Given the description of an element on the screen output the (x, y) to click on. 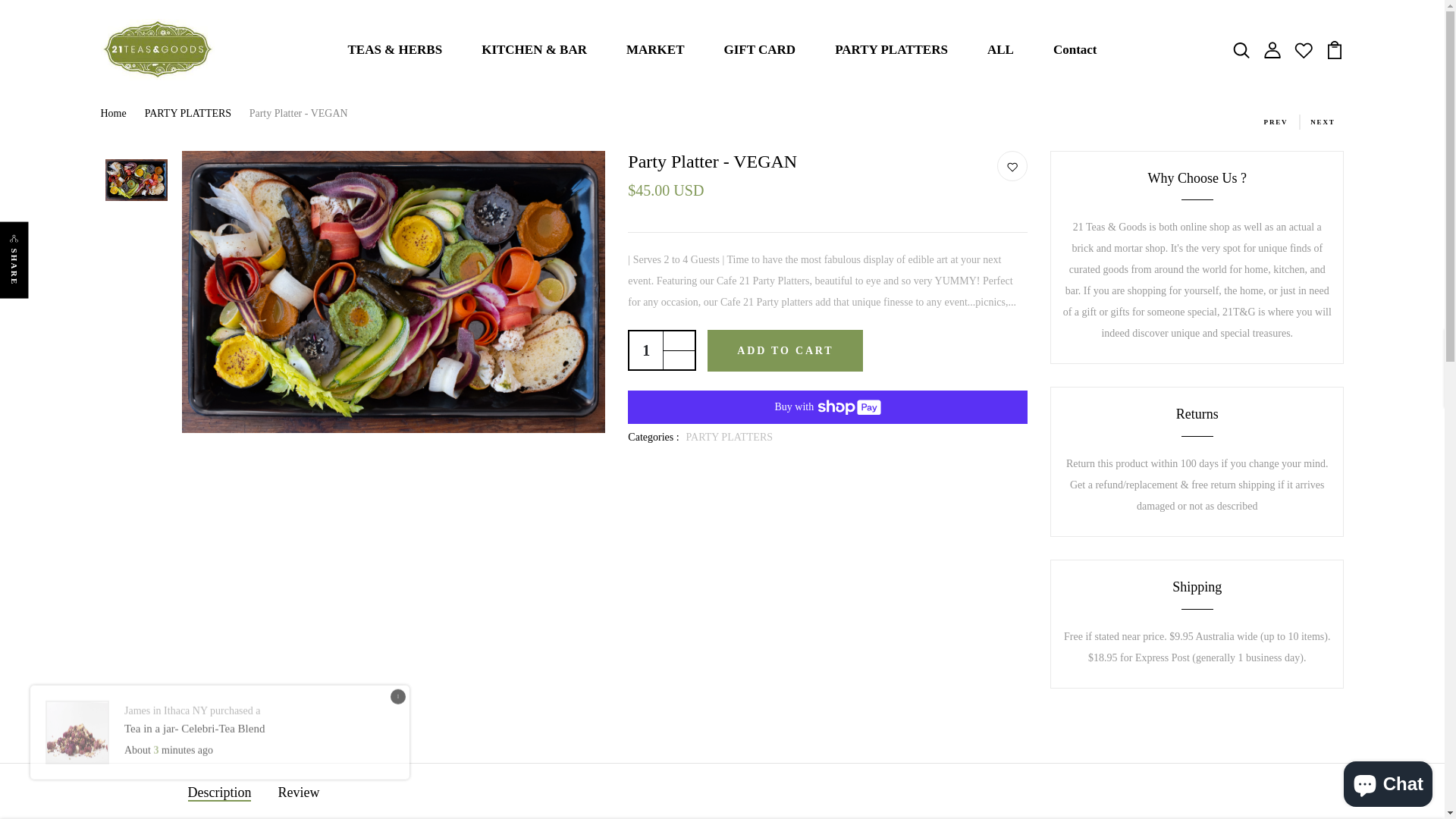
KITCHEN & BAR Element type: text (534, 49)
Contact Element type: text (1075, 49)
PARTY PLATTERS Element type: text (890, 49)
PARTY PLATTERS Element type: text (729, 436)
Description Element type: text (219, 792)
image/svg+xml Element type: text (1241, 48)
Review Element type: text (298, 792)
Home Element type: text (120, 113)
ADD TO CART Element type: text (784, 350)
GIFT CARD Element type: text (760, 49)
Log In Element type: text (722, 473)
image/svg+xml Element type: text (1272, 48)
ALL Element type: text (1000, 49)
image/svg+xml Element type: text (1334, 48)
image/svg+xml Element type: text (1011, 166)
Tea in a jar- Celebri-Tea Blend Element type: text (194, 737)
image/svg+xml Element type: text (1303, 48)
TEAS & HERBS Element type: text (394, 49)
NEXT Element type: text (1326, 121)
PARTY PLATTERS Element type: text (196, 113)
MARKET Element type: text (655, 49)
PREV Element type: text (1271, 121)
register Element type: text (722, 735)
